Given the description of an element on the screen output the (x, y) to click on. 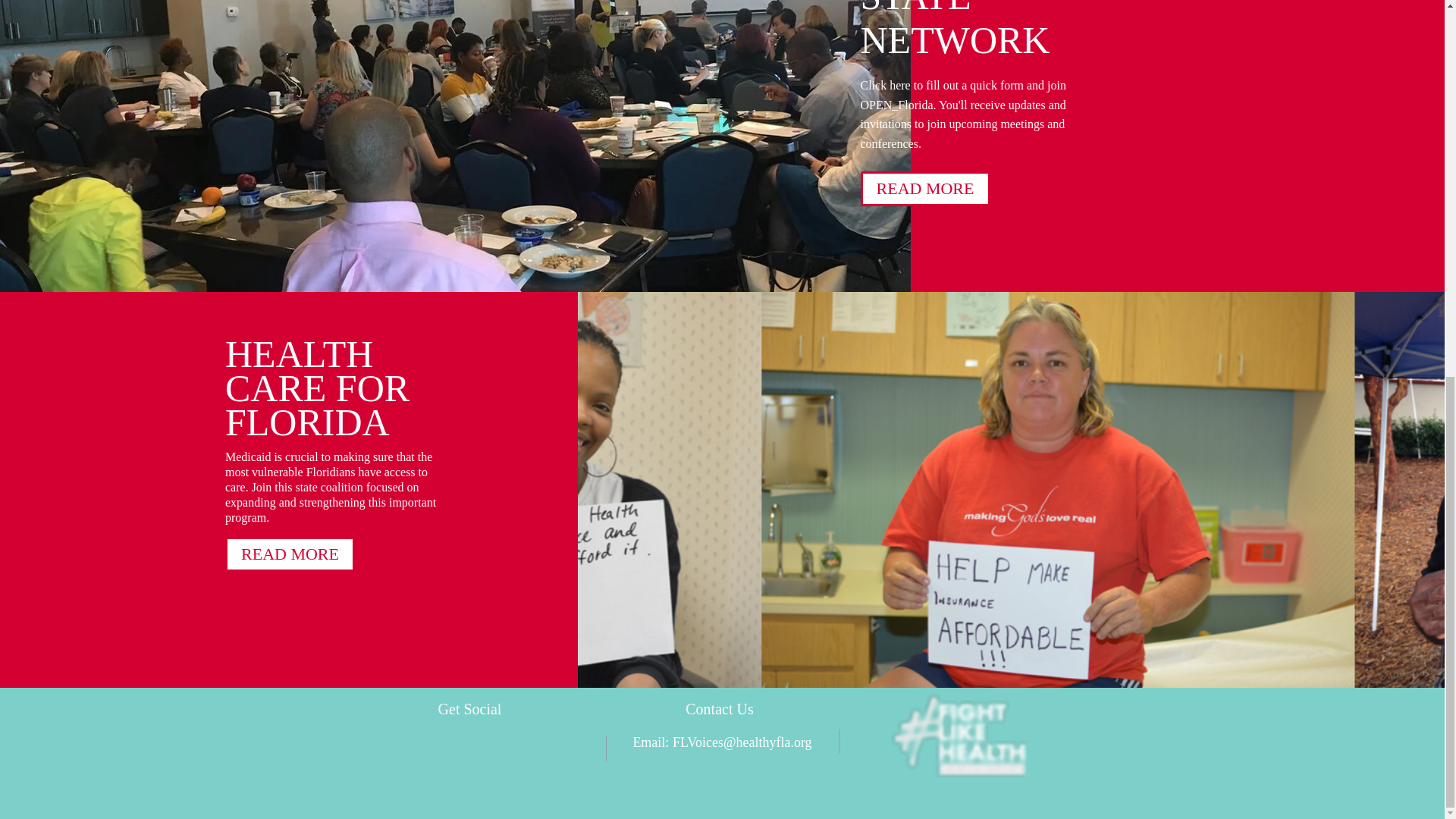
READ MORE (925, 188)
READ MORE (290, 554)
